Given the description of an element on the screen output the (x, y) to click on. 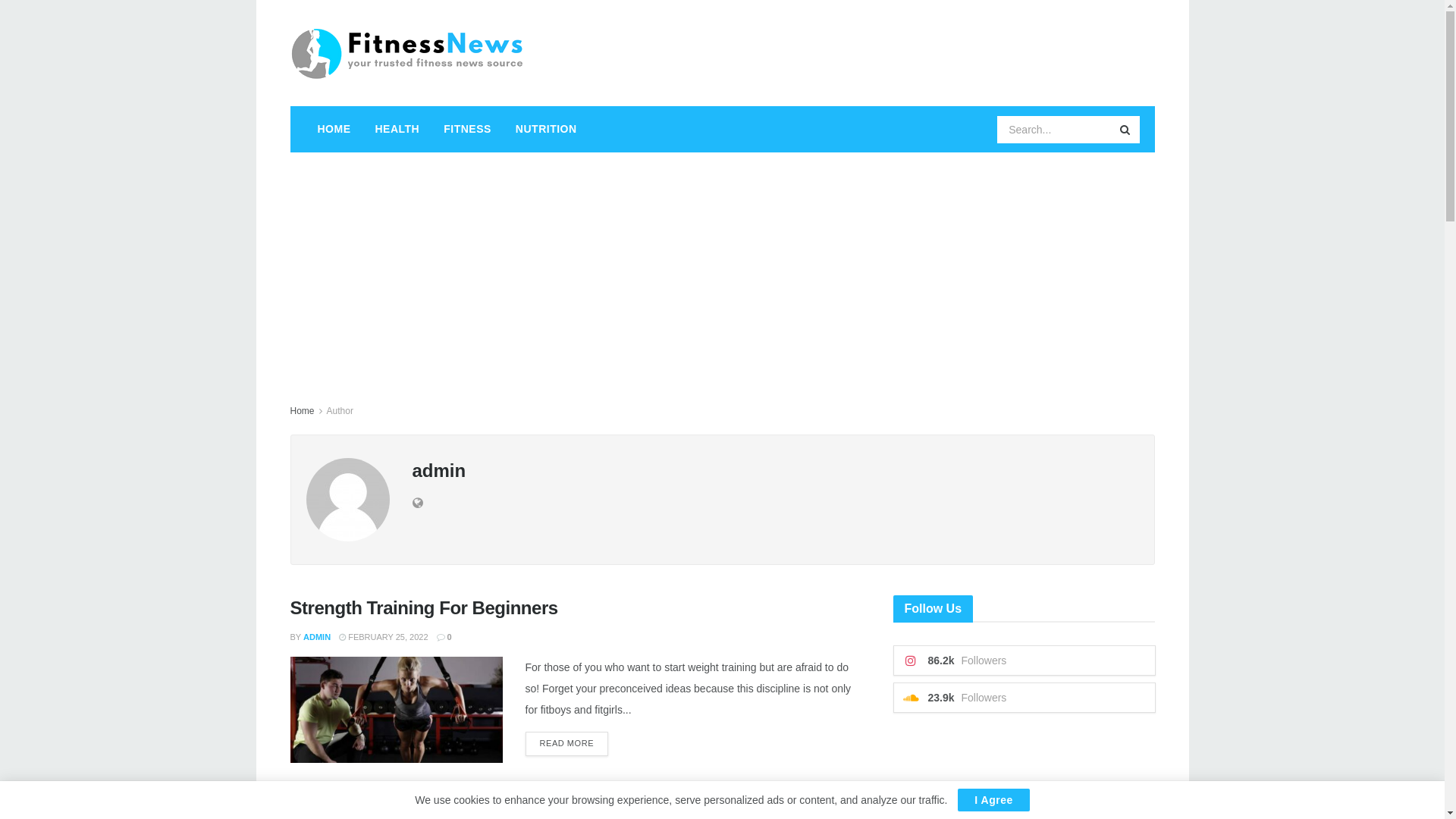
NUTRITION Element type: text (546, 129)
HOME Element type: text (333, 129)
Strength Training For Beginners Element type: text (423, 607)
HEALTH Element type: text (396, 129)
Advertisement Element type: hover (721, 266)
I Agree Element type: text (993, 799)
23.9k Followers Element type: text (1024, 697)
0 Element type: text (443, 636)
Home Element type: text (301, 410)
FITNESS Element type: text (467, 129)
Author Element type: text (339, 410)
ADMIN Element type: text (316, 636)
READ MORE Element type: text (566, 743)
FEBRUARY 25, 2022 Element type: text (382, 636)
86.2k Followers Element type: text (1024, 660)
